Given the description of an element on the screen output the (x, y) to click on. 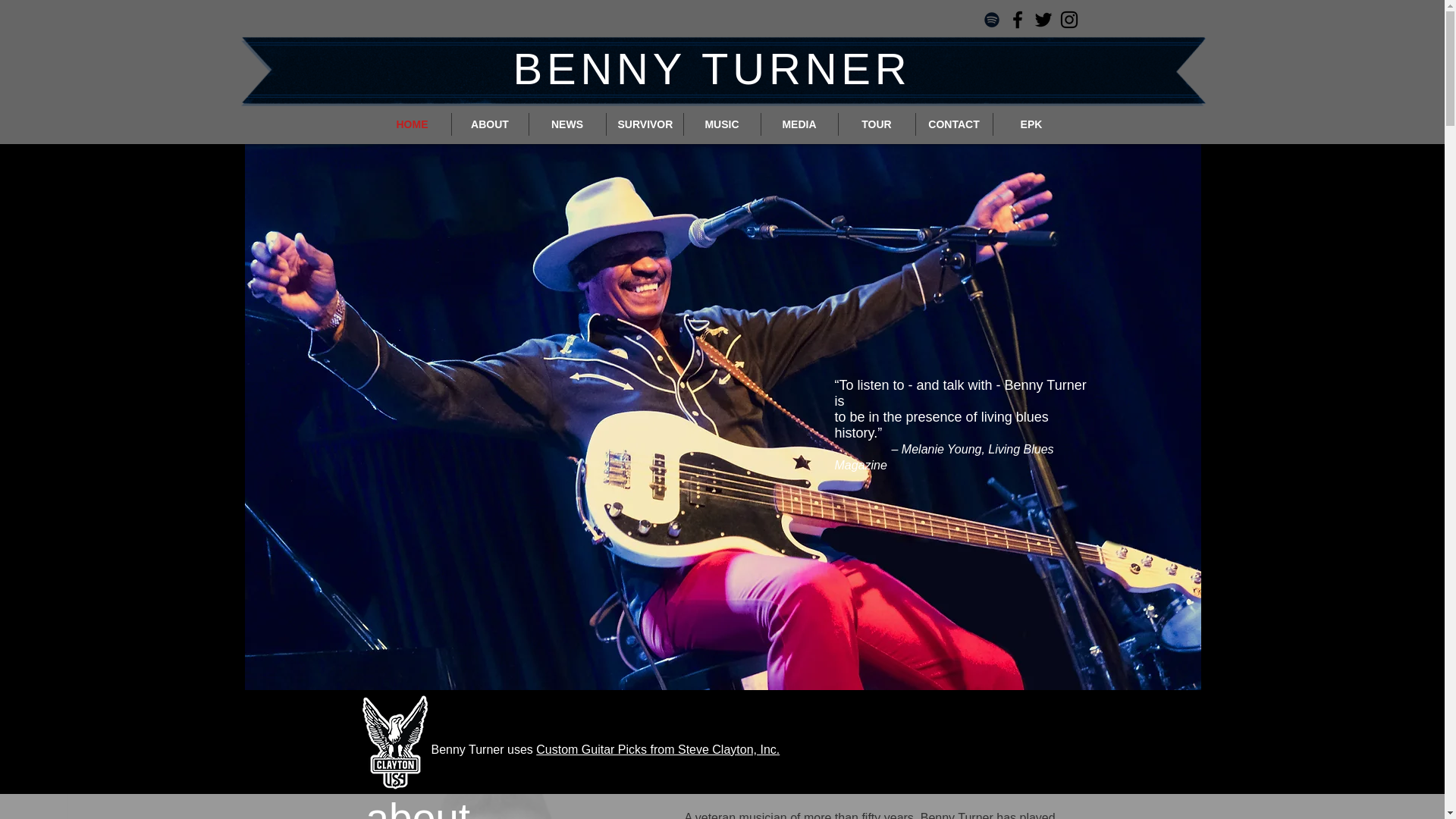
BENNY TURNER (711, 68)
CONTACT (953, 124)
MUSIC (722, 124)
Custom Guitar Picks from Steve Clayton, Inc. (656, 748)
HOME (410, 124)
TOUR (876, 124)
SURVIVOR (644, 124)
EPK (1031, 124)
NEWS (567, 124)
ABOUT (489, 124)
